Given the description of an element on the screen output the (x, y) to click on. 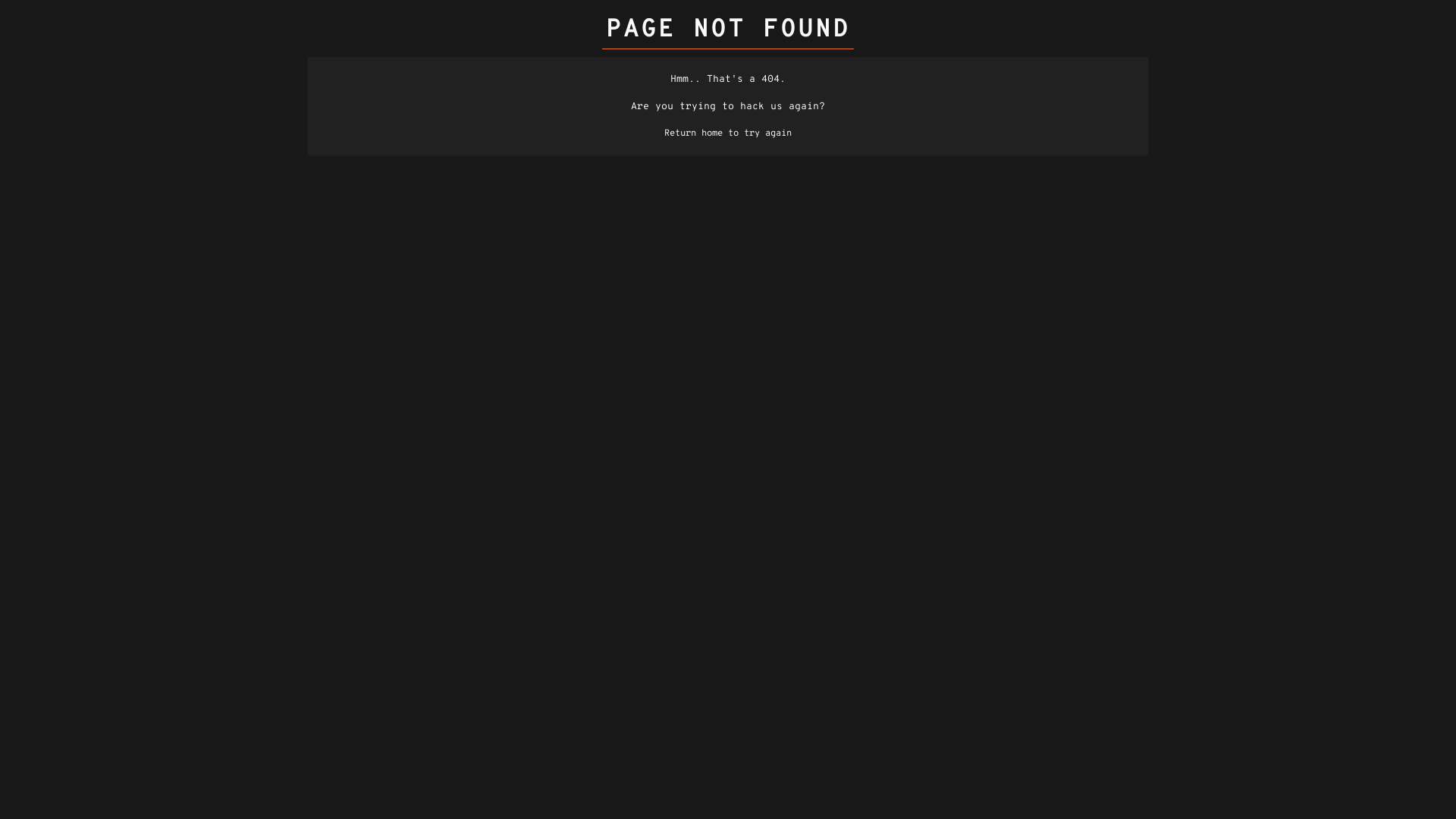
Return home to try again Element type: text (727, 133)
